Given the description of an element on the screen output the (x, y) to click on. 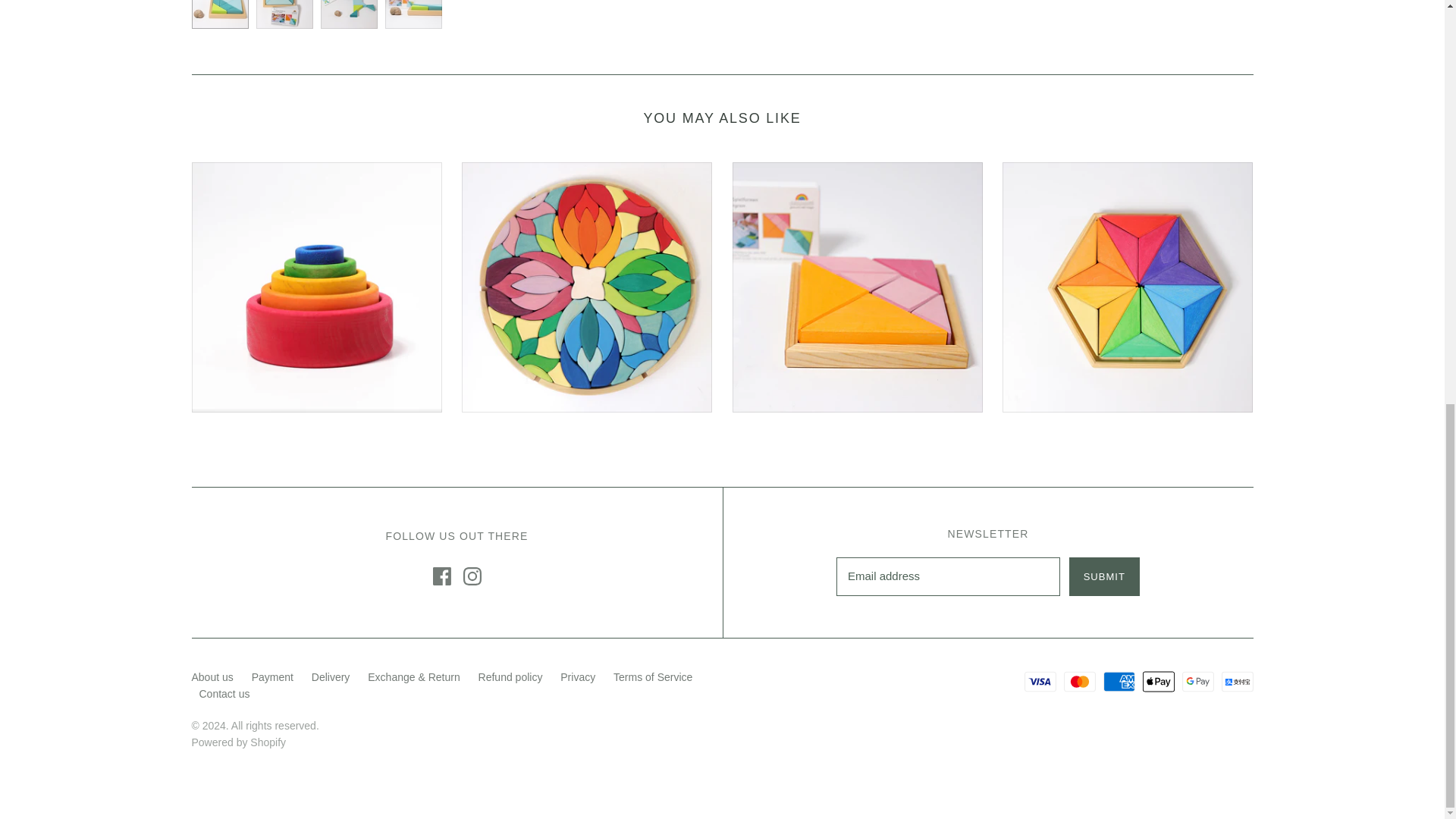
AliPay (1236, 681)
Google Pay (1198, 681)
Apple Pay (1158, 681)
Mastercard (1080, 681)
Submit (1104, 576)
American Express (1119, 681)
Visa (1041, 681)
